Given the description of an element on the screen output the (x, y) to click on. 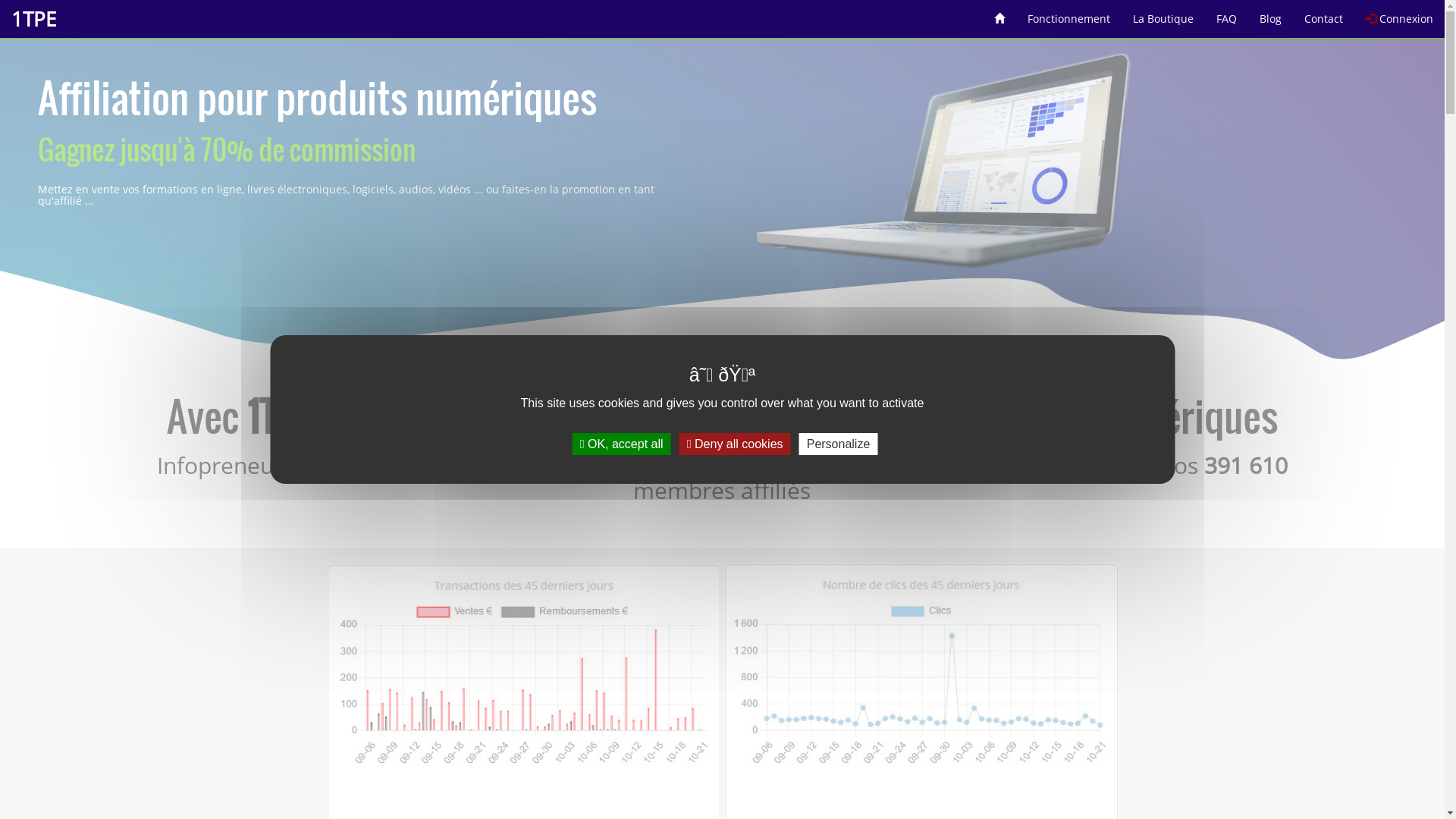
Fonctionnement Element type: text (1068, 13)
FAQ Element type: text (1226, 13)
La Boutique Element type: text (1162, 13)
1TPE Element type: text (33, 18)
Deny all cookies Element type: text (734, 444)
Personalize Element type: text (838, 444)
OK, accept all Element type: text (621, 444)
Connexion Element type: text (1399, 13)
Contact Element type: text (1323, 13)
Blog Element type: text (1270, 13)
